Given the description of an element on the screen output the (x, y) to click on. 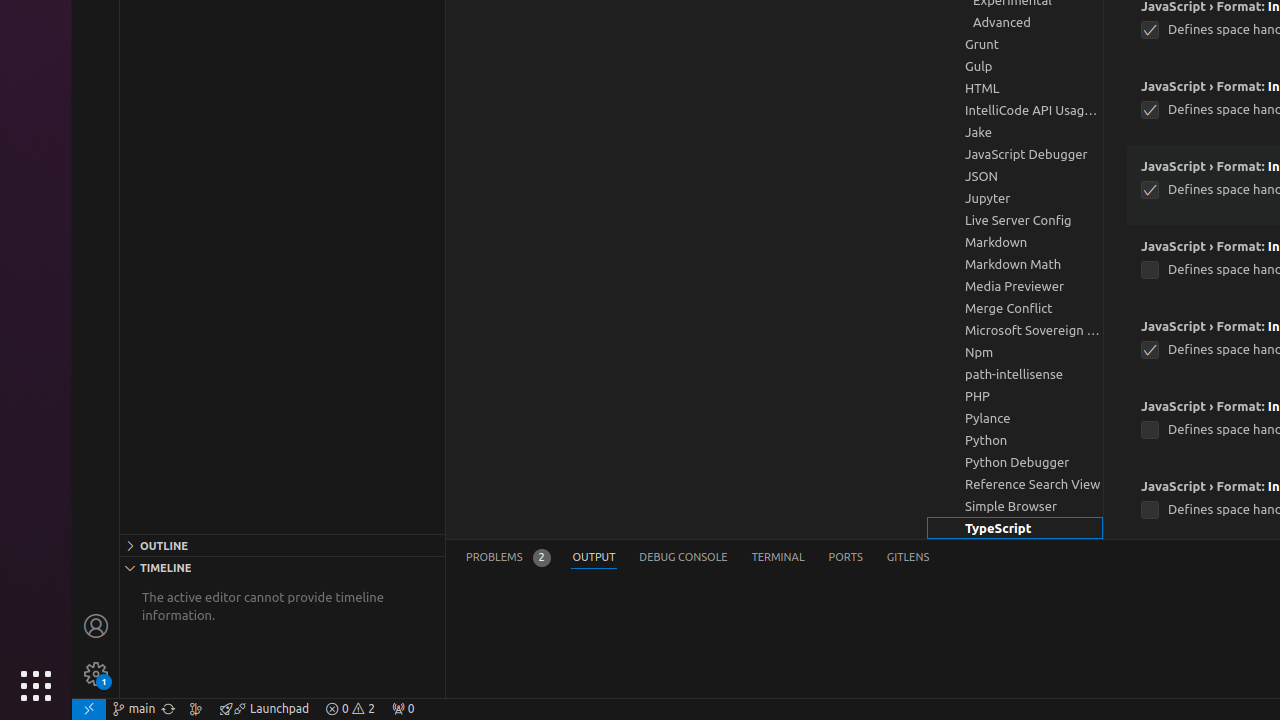
Python, group Element type: tree-item (1015, 440)
JSON, group Element type: tree-item (1015, 176)
javascript.format.insertSpaceAfterKeywordsInControlFlowStatements Element type: check-box (1150, 110)
remote Element type: push-button (89, 709)
Jupyter, group Element type: tree-item (1015, 198)
